Given the description of an element on the screen output the (x, y) to click on. 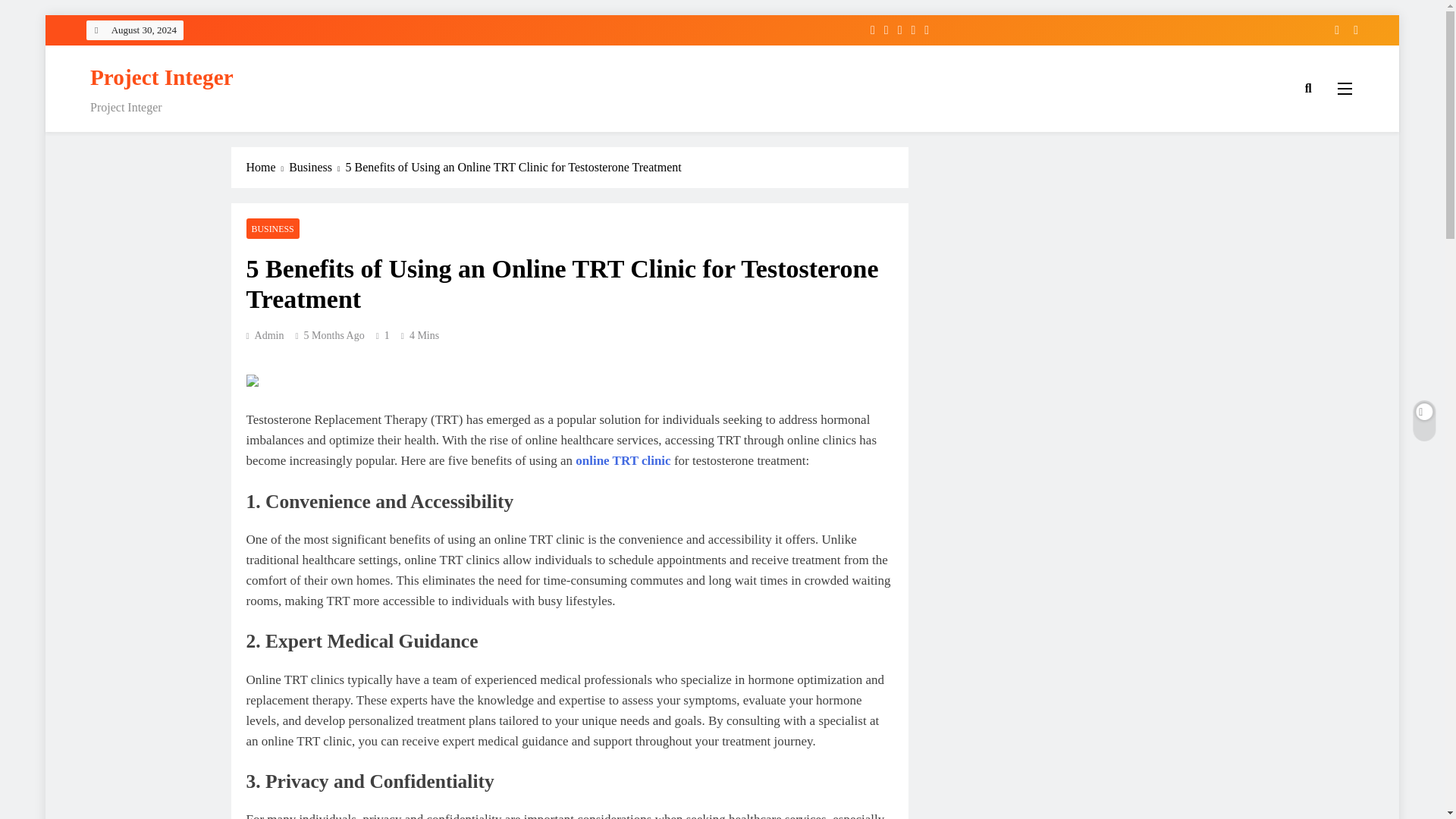
Home (267, 167)
BUSINESS (272, 228)
online TRT clinic (622, 460)
Project Integer (161, 77)
5 Months Ago (334, 335)
Business (316, 167)
Admin (264, 335)
